Given the description of an element on the screen output the (x, y) to click on. 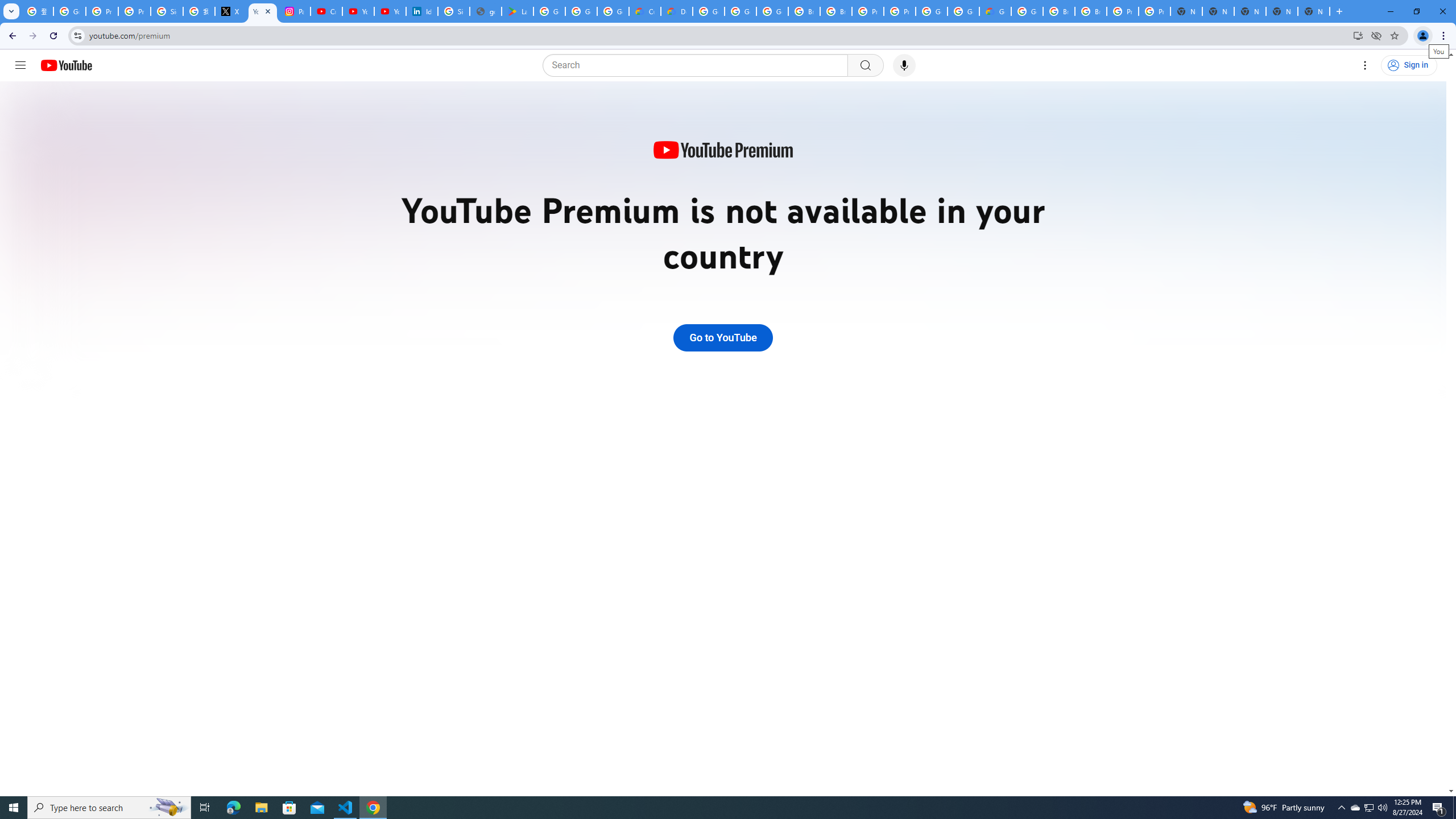
X (230, 11)
YouTube Premium - YouTube (262, 11)
Guide (20, 65)
Customer Care | Google Cloud (644, 11)
Go to YouTube (722, 337)
YouTube Culture & Trends - YouTube Top 10, 2021 (389, 11)
Browse Chrome as a guest - Computer - Google Chrome Help (1059, 11)
